Given the description of an element on the screen output the (x, y) to click on. 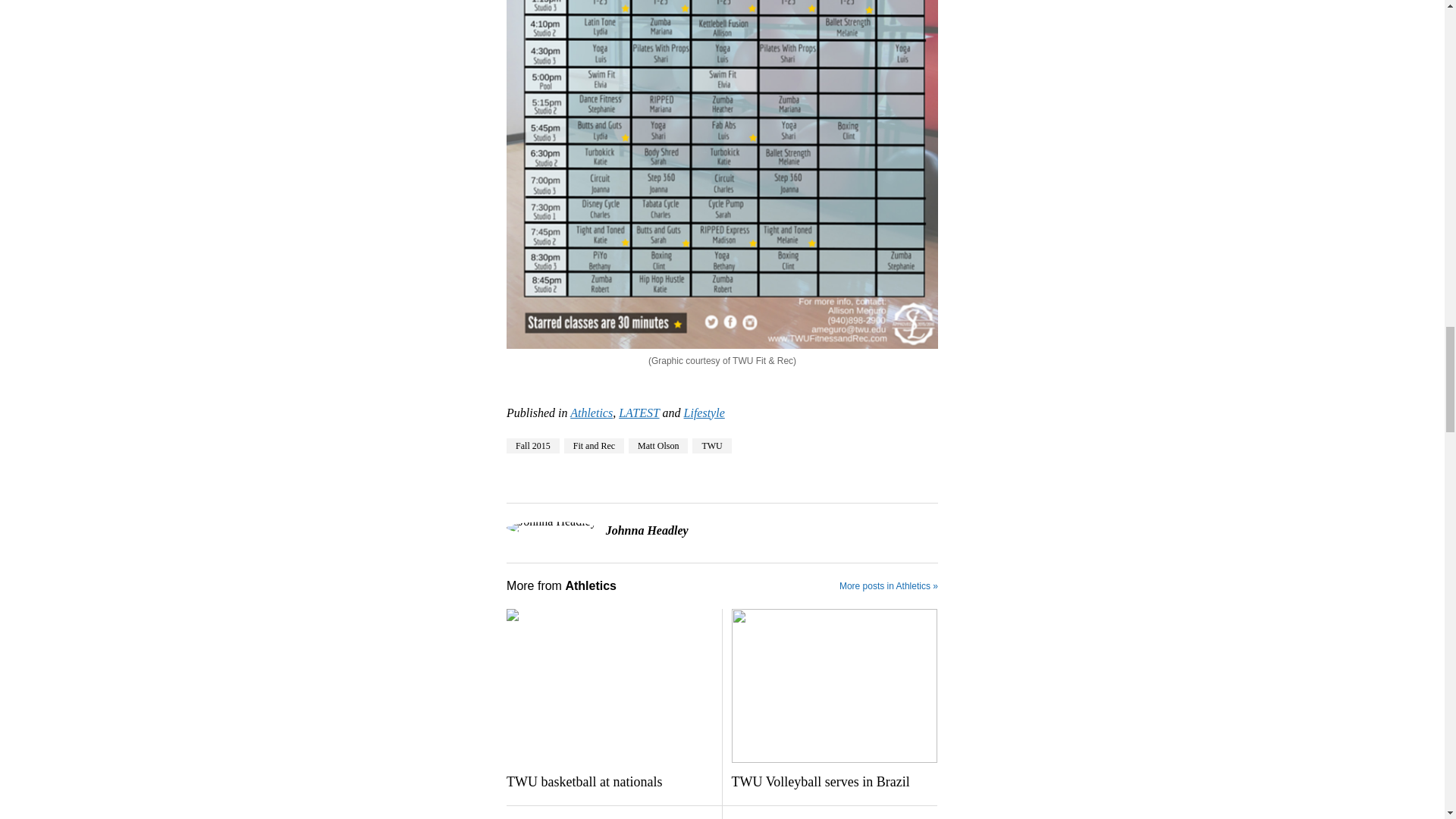
View all posts tagged Fall 2015 (532, 445)
View all posts tagged Matt Olson (657, 445)
View all posts in Athletics (591, 412)
View all posts tagged TWU (711, 445)
View all posts tagged Fit and Rec (594, 445)
View all posts in LATEST (638, 412)
View all posts in Lifestyle (704, 412)
